Given the description of an element on the screen output the (x, y) to click on. 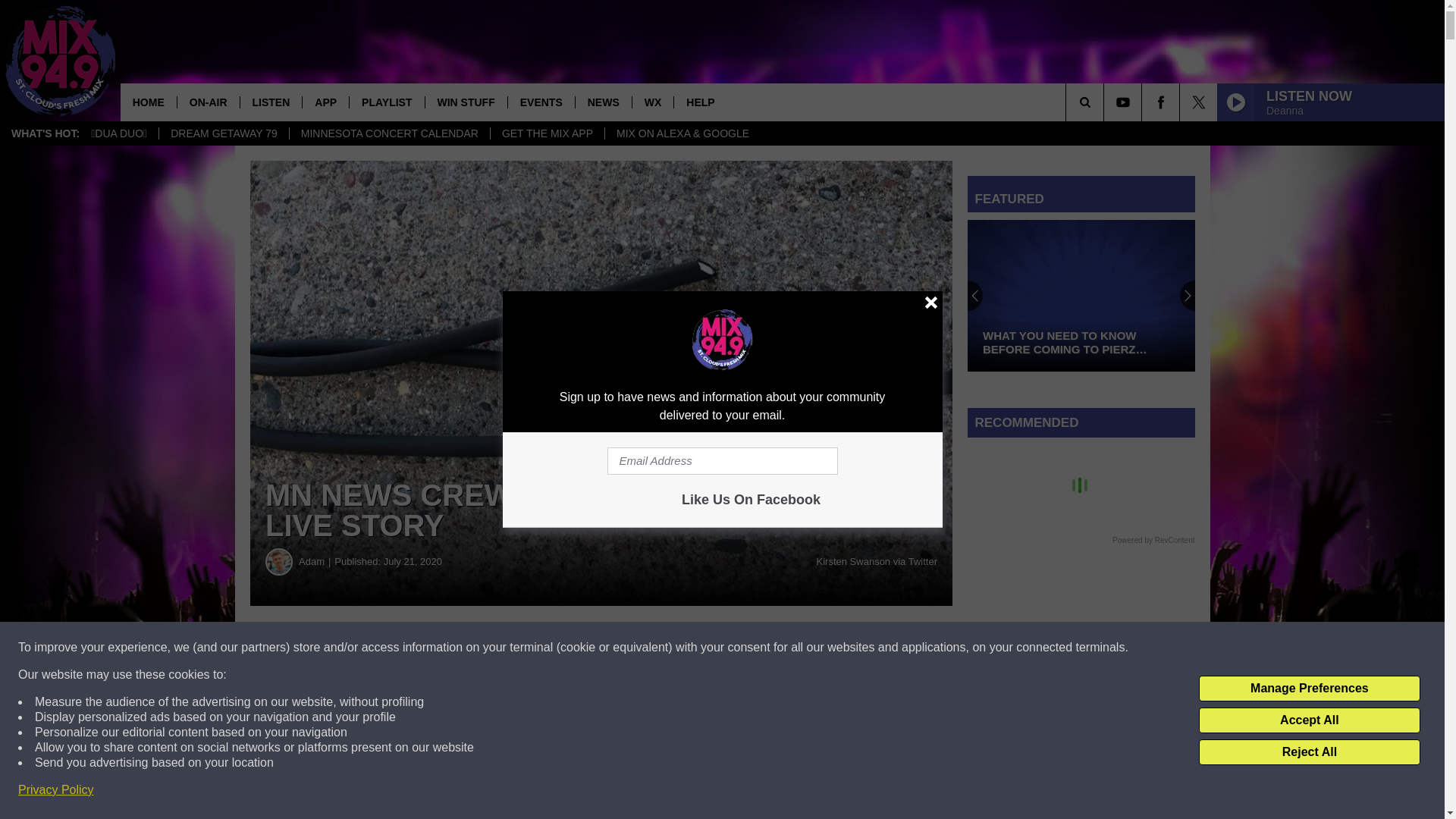
MINNESOTA CONCERT CALENDAR (388, 133)
LISTEN (271, 102)
SEARCH (1106, 102)
Reject All (1309, 751)
Share on Twitter (741, 647)
ON-AIR (208, 102)
SEARCH (1106, 102)
Email Address (722, 461)
Share on Facebook (460, 647)
HOME (148, 102)
APP (325, 102)
Manage Preferences (1309, 688)
Accept All (1309, 720)
PLAYLIST (386, 102)
DREAM GETAWAY 79 (223, 133)
